Given the description of an element on the screen output the (x, y) to click on. 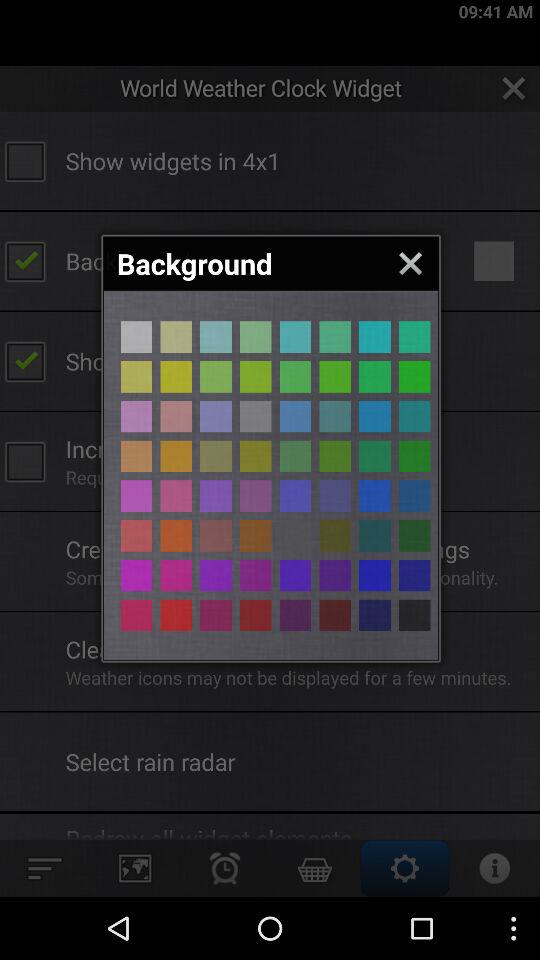
different colour page (255, 336)
